Given the description of an element on the screen output the (x, y) to click on. 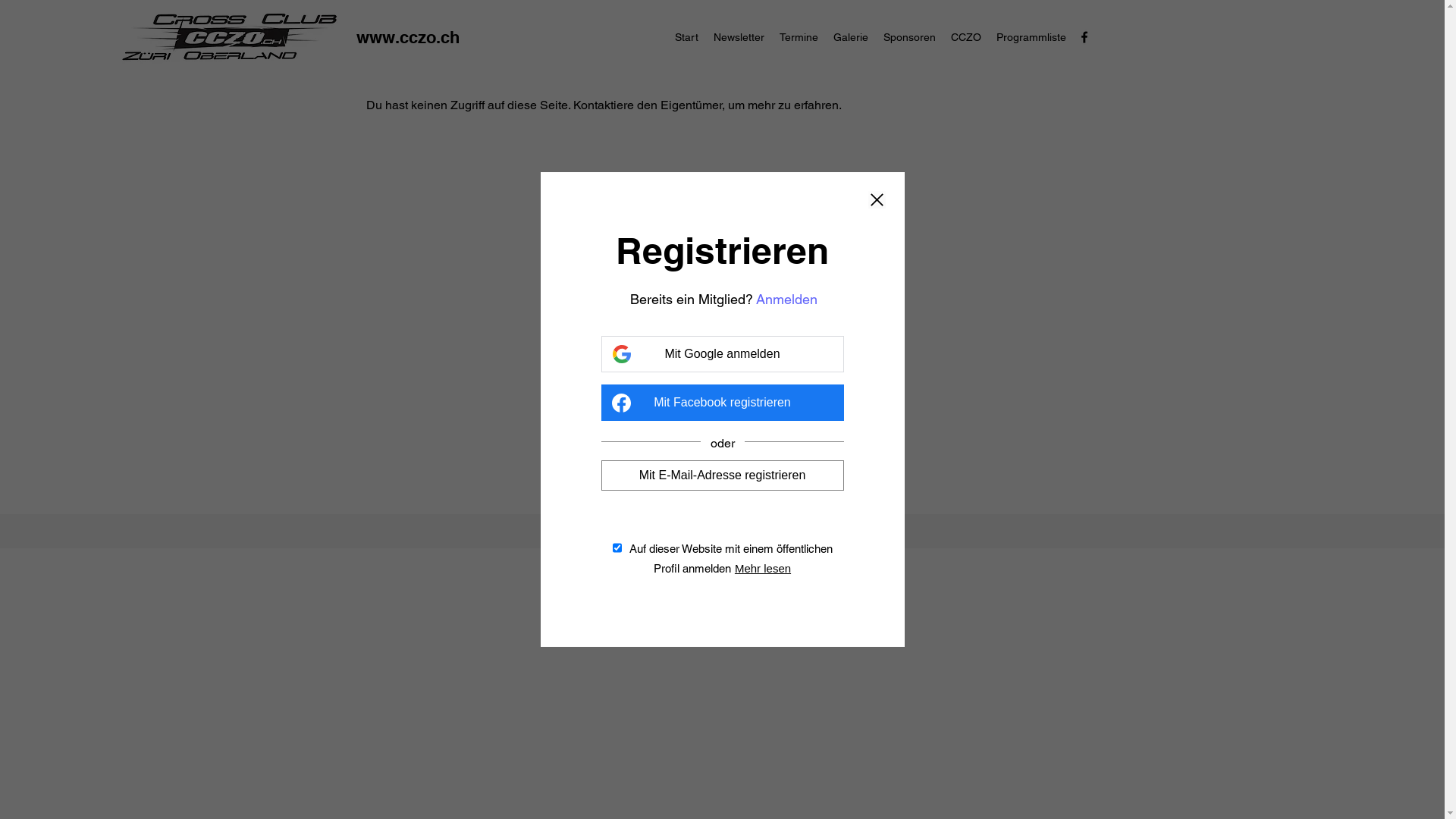
Mit Facebook registrieren Element type: text (721, 401)
www.cczo.ch Element type: text (407, 37)
Galerie Element type: text (850, 36)
Mehr lesen Element type: text (762, 567)
Mit Google anmelden Element type: text (721, 353)
FM der Marketing Coach Element type: text (802, 530)
Sponsoren Element type: text (909, 36)
Newsletter Element type: text (738, 36)
www.cczo.ch Element type: text (641, 530)
Programmliste Element type: text (1030, 36)
Mit E-Mail-Adresse registrieren Element type: text (721, 474)
Start Element type: text (686, 36)
CCZO Element type: text (965, 36)
Termine Element type: text (798, 36)
Anmelden Element type: text (786, 299)
